Given the description of an element on the screen output the (x, y) to click on. 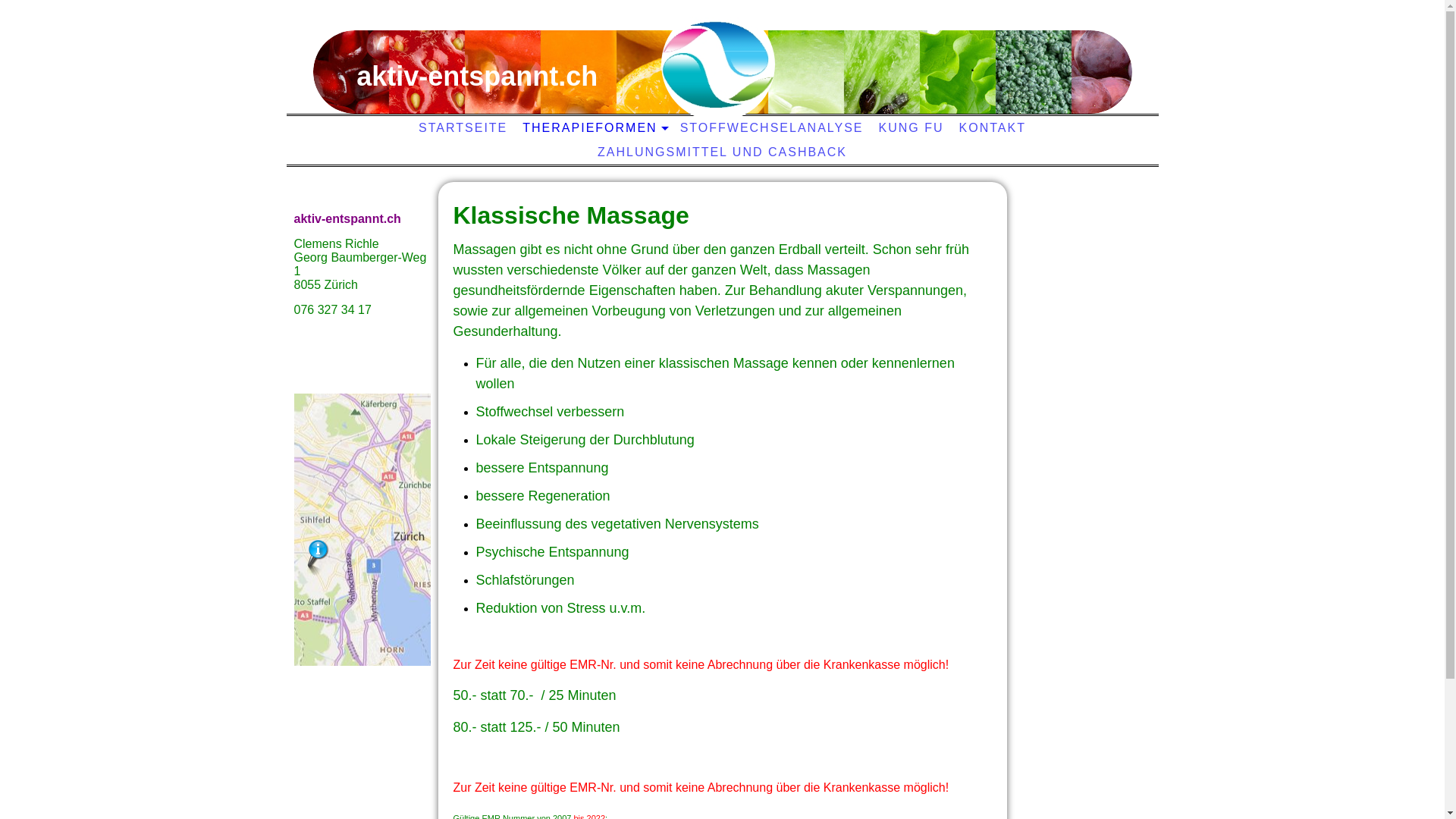
KONTAKT Element type: text (992, 127)
STOFFWECHSELANALYSE Element type: text (771, 127)
THERAPIEFORMEN Element type: text (593, 127)
KUNG FU Element type: text (911, 127)
ZAHLUNGSMITTEL UND CASHBACK Element type: text (721, 152)
STARTSEITE Element type: text (462, 127)
